Given the description of an element on the screen output the (x, y) to click on. 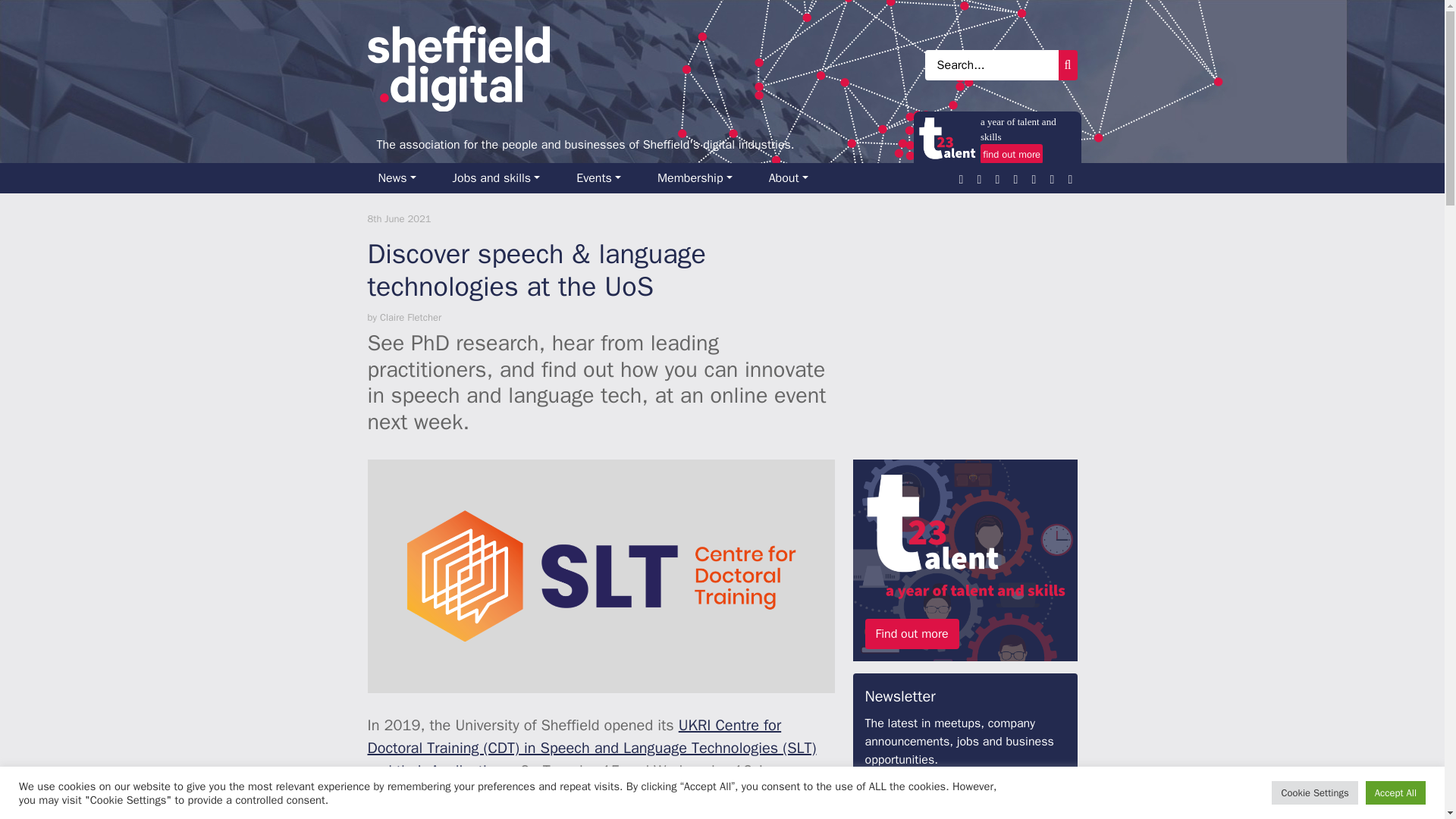
About (794, 177)
find out more (1011, 154)
find out more (1010, 153)
News (402, 177)
Jobs and skills (502, 177)
News (402, 177)
Events (604, 177)
Membership (701, 177)
Jobs and skills (502, 177)
Events (604, 177)
